Given the description of an element on the screen output the (x, y) to click on. 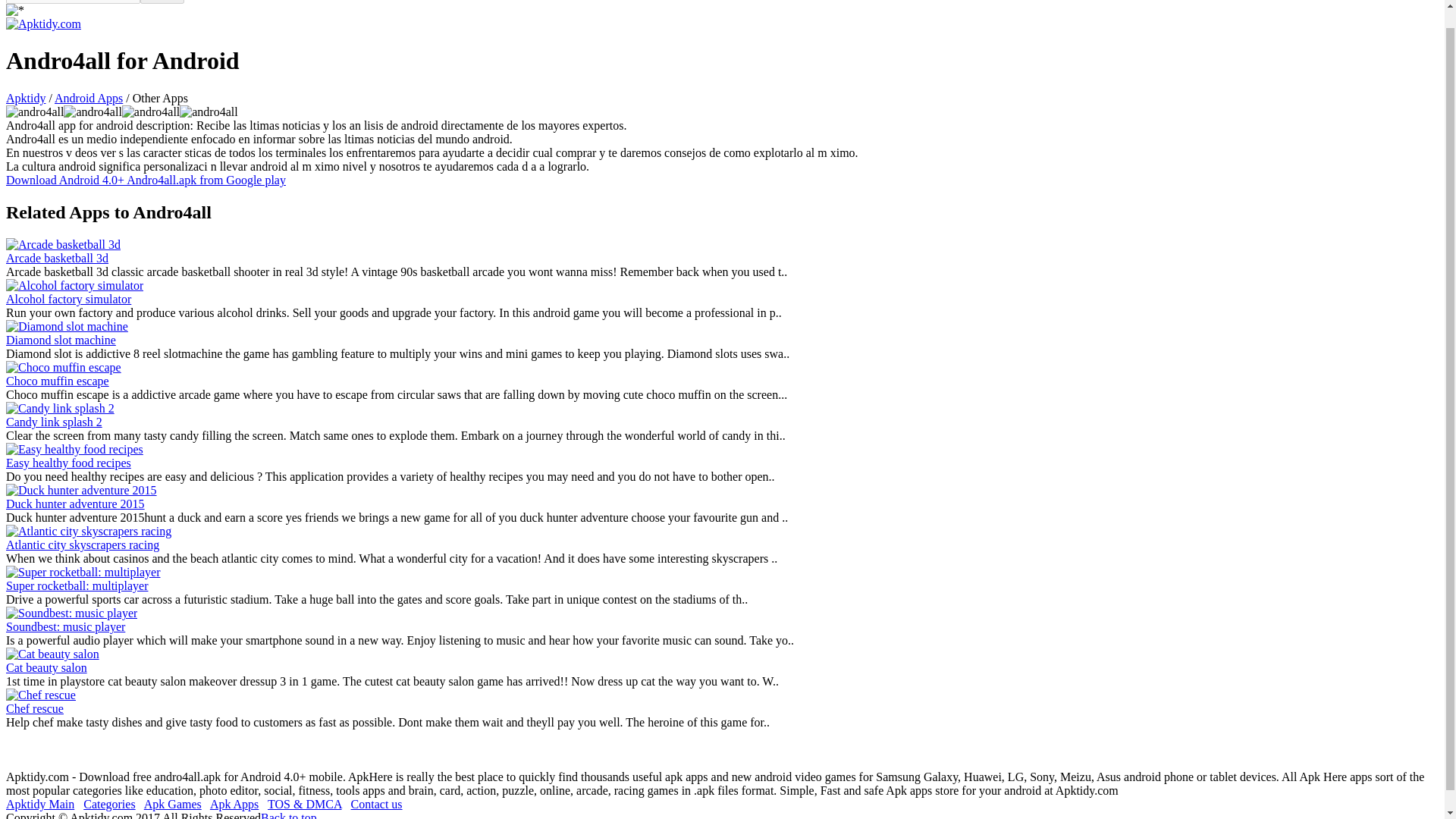
Search (161, 2)
Apk Games (173, 803)
Apktidy (25, 97)
Categories (108, 803)
Apk Apps (234, 803)
Contact us (376, 803)
Android Apps (88, 97)
Apktidy Main (39, 803)
Search (161, 2)
